Given the description of an element on the screen output the (x, y) to click on. 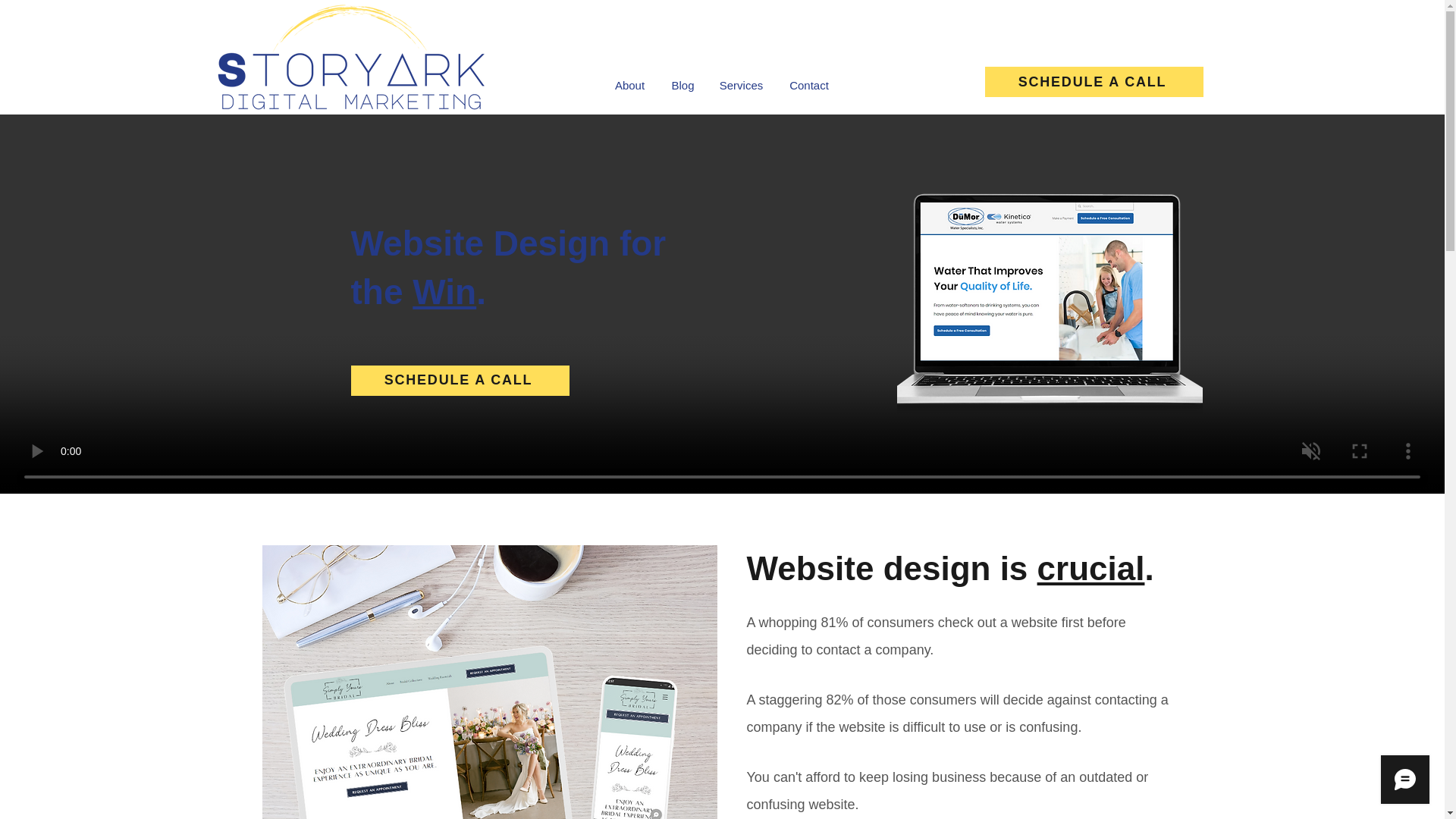
Contact (808, 85)
About (628, 85)
Services (740, 85)
Blog (682, 85)
SCHEDULE A CALL (459, 380)
SCHEDULE A CALL (1093, 81)
